Given the description of an element on the screen output the (x, y) to click on. 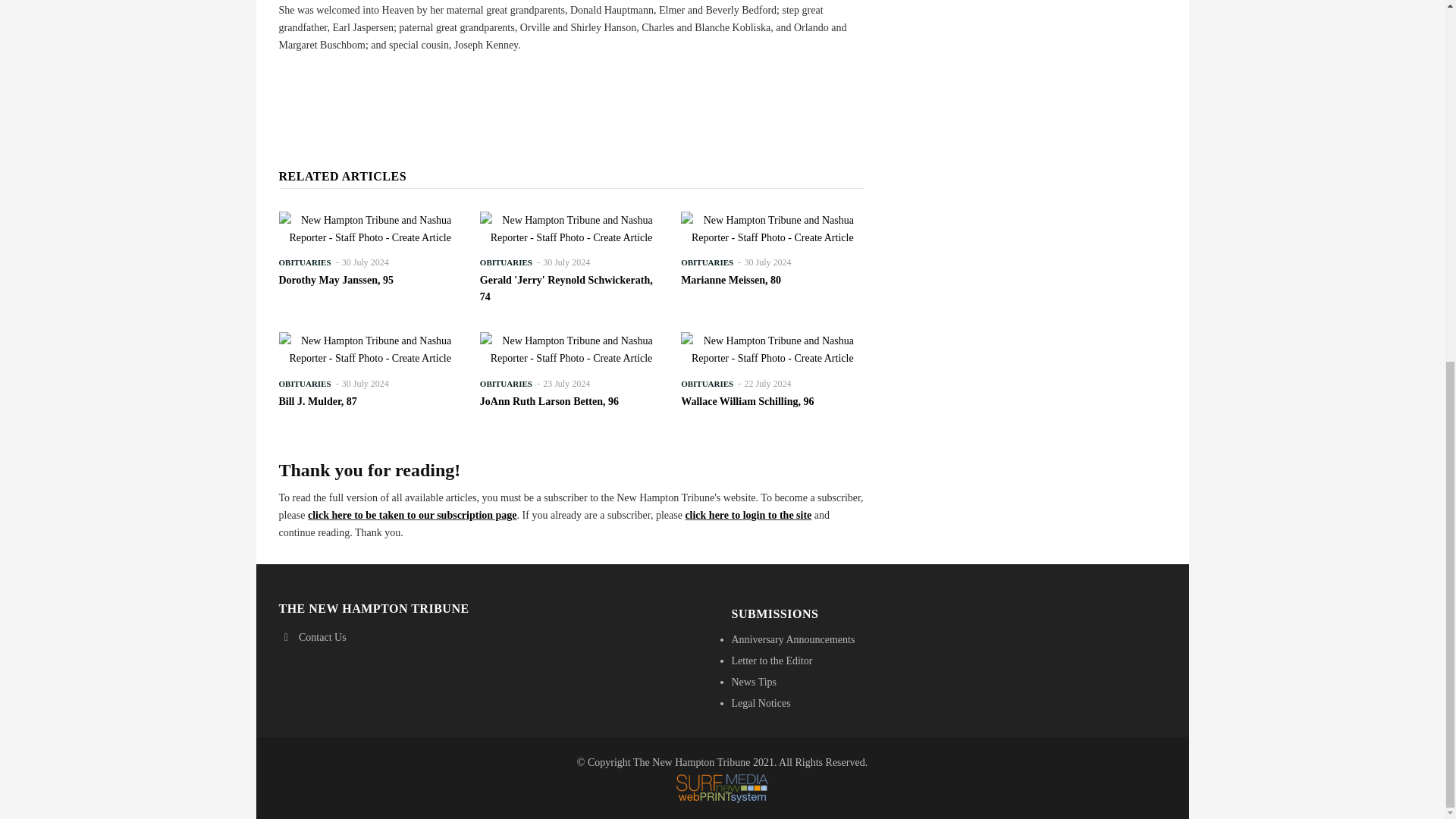
Share to Facebook (518, 82)
Share to Pinterest (561, 82)
Share to E-mail (603, 82)
Share to Reddit (582, 82)
Share to Twitter (539, 82)
